Given the description of an element on the screen output the (x, y) to click on. 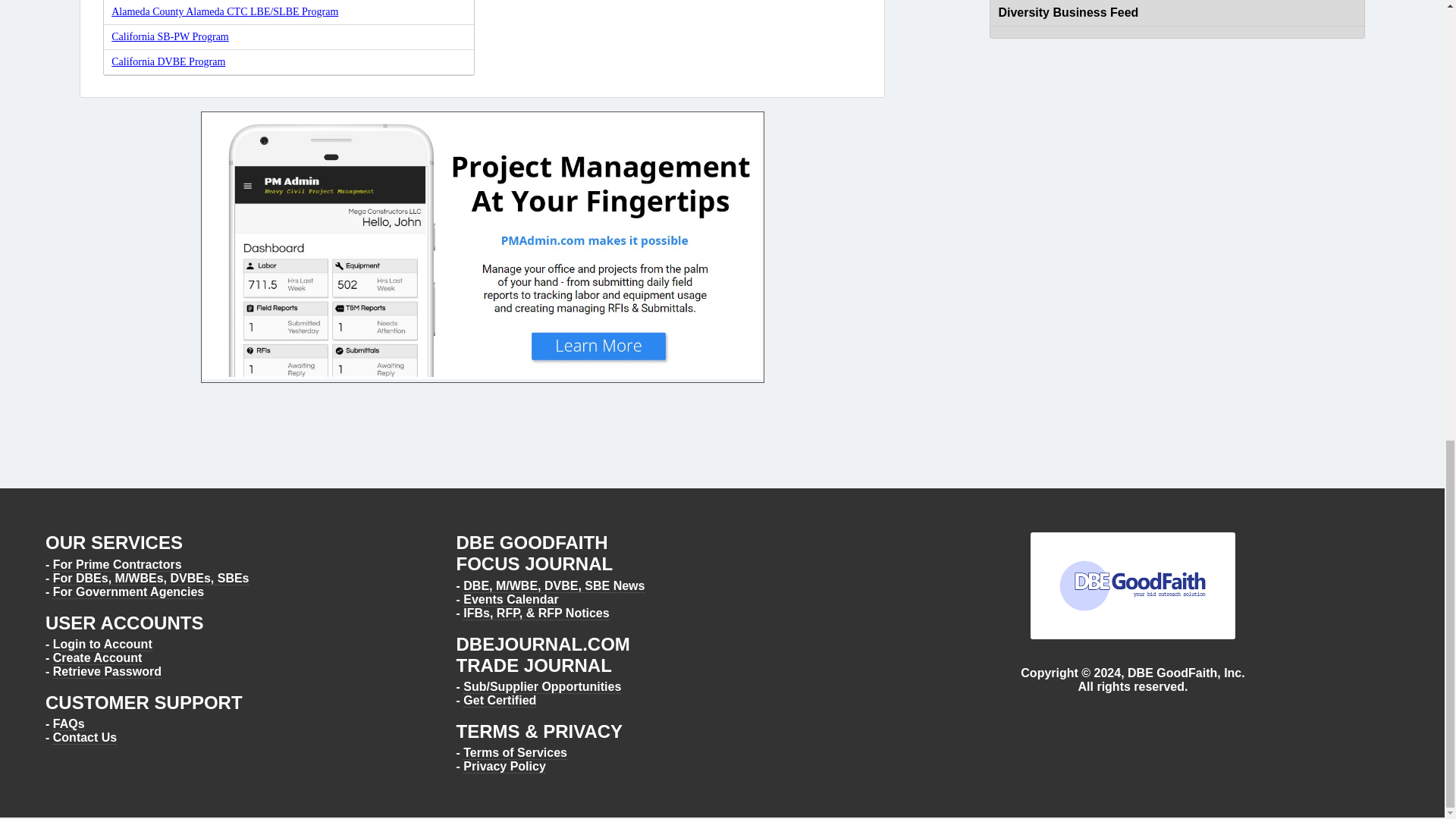
DBEGoodFaith.com (1132, 585)
